Given the description of an element on the screen output the (x, y) to click on. 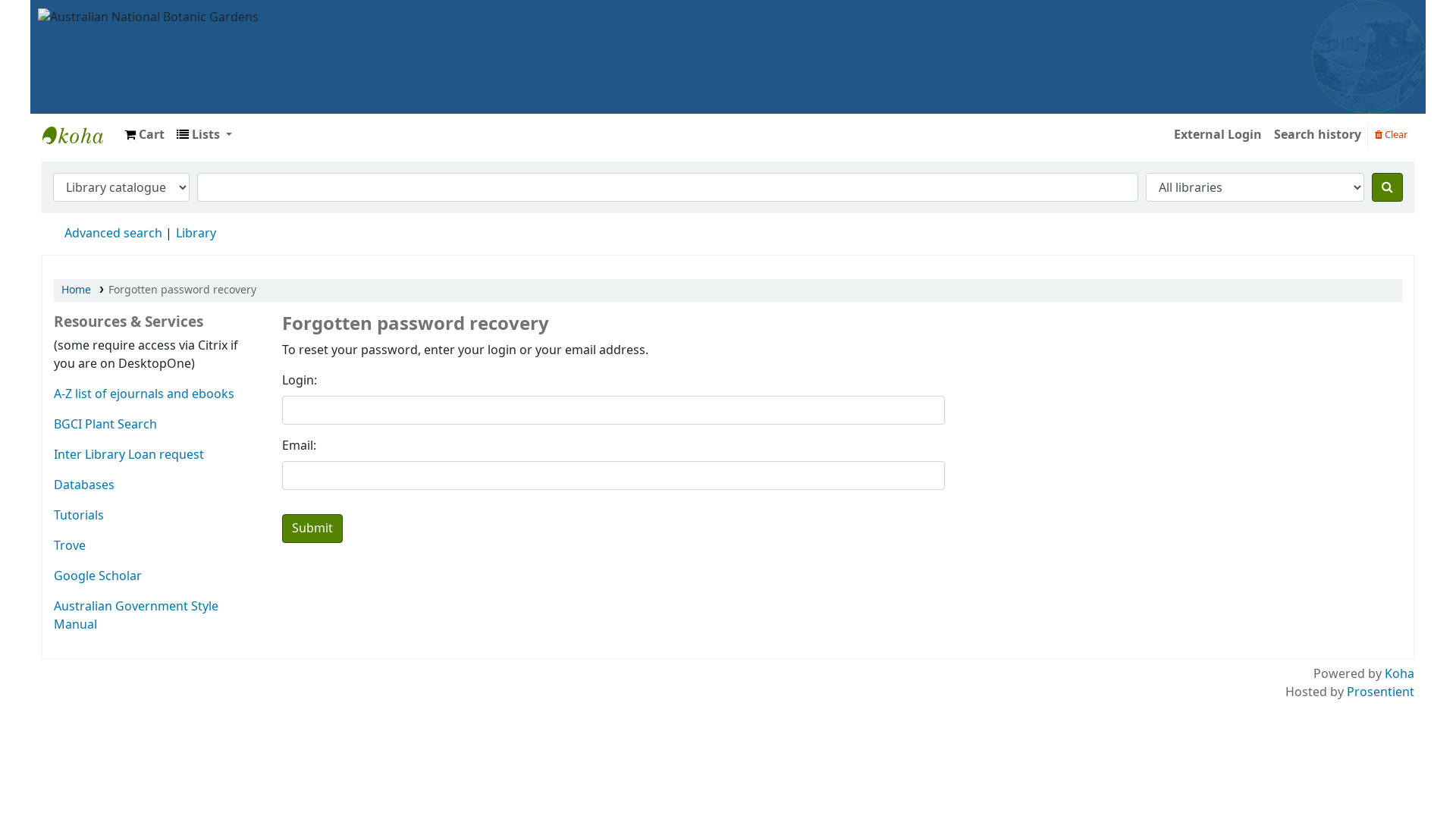
Home Element type: text (76, 290)
Library Element type: text (195, 233)
Australian National Botanic Gardens Element type: hover (147, 17)
BGCI Plant Search Element type: text (104, 424)
Australian Government Style Manual Element type: text (135, 615)
DCCEEW Element type: text (80, 134)
Koha Element type: text (1399, 674)
Google Scholar Element type: text (97, 576)
Submit Element type: text (312, 528)
Prosentient Element type: text (1380, 692)
Lists Element type: text (204, 134)
Search Element type: hover (1386, 186)
Advanced search Element type: text (113, 233)
A-Z list of ejournals and ebooks Element type: text (143, 394)
Cart Element type: text (144, 134)
Tutorials Element type: text (78, 515)
Search history Element type: text (1317, 134)
External Login Element type: text (1217, 134)
Inter Library Loan request Element type: text (128, 454)
Clear Element type: text (1390, 133)
Trove Element type: text (69, 545)
Forgotten password recovery Element type: text (182, 290)
Databases Element type: text (83, 485)
